Given the description of an element on the screen output the (x, y) to click on. 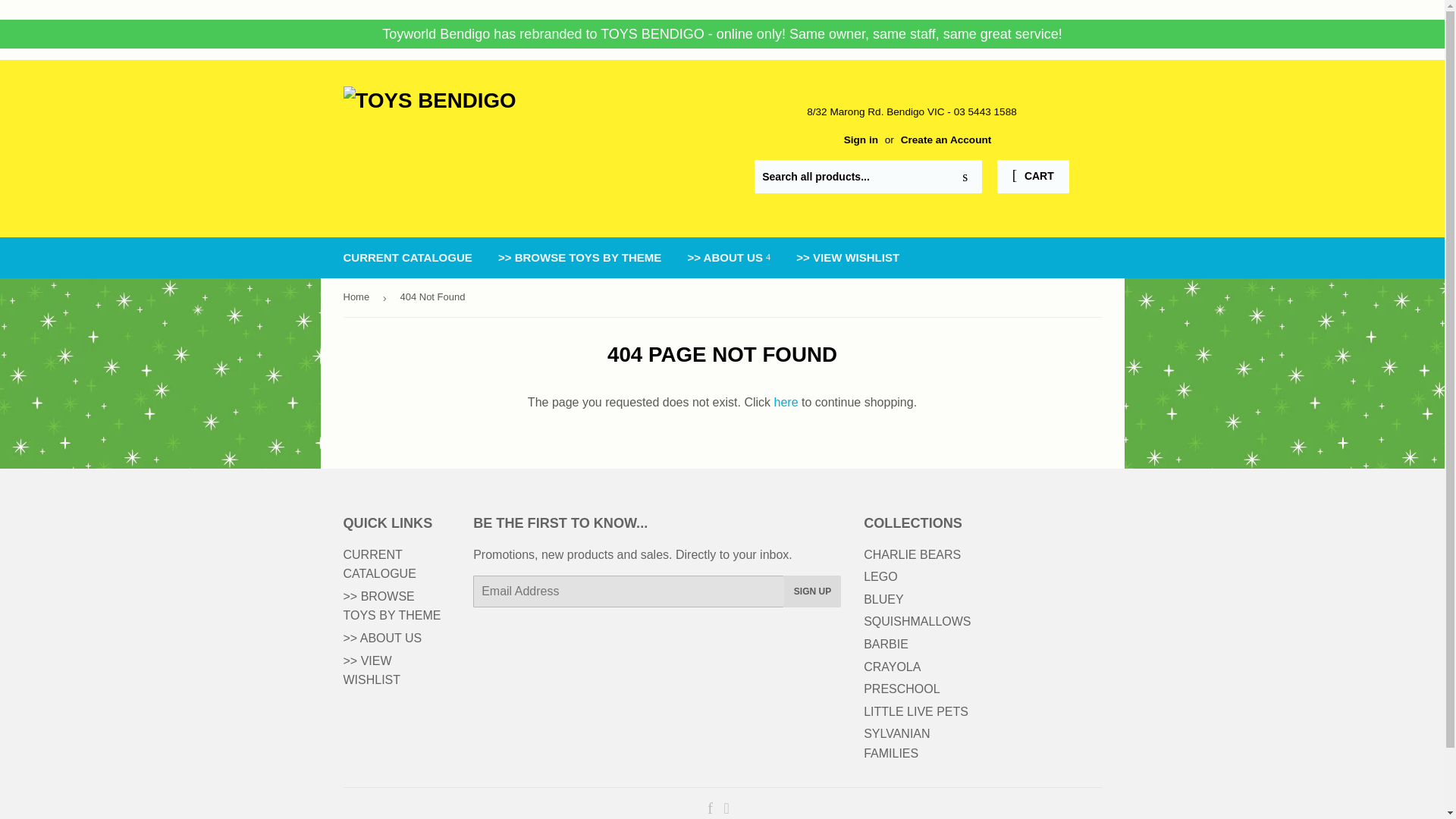
CURRENT CATALOGUE (378, 563)
SIGN UP (812, 591)
here (785, 401)
Create an Account (946, 139)
CURRENT CATALOGUE (407, 257)
Search (964, 177)
Sign in (860, 139)
CHARLIE BEARS (911, 554)
CART (1032, 176)
